Given the description of an element on the screen output the (x, y) to click on. 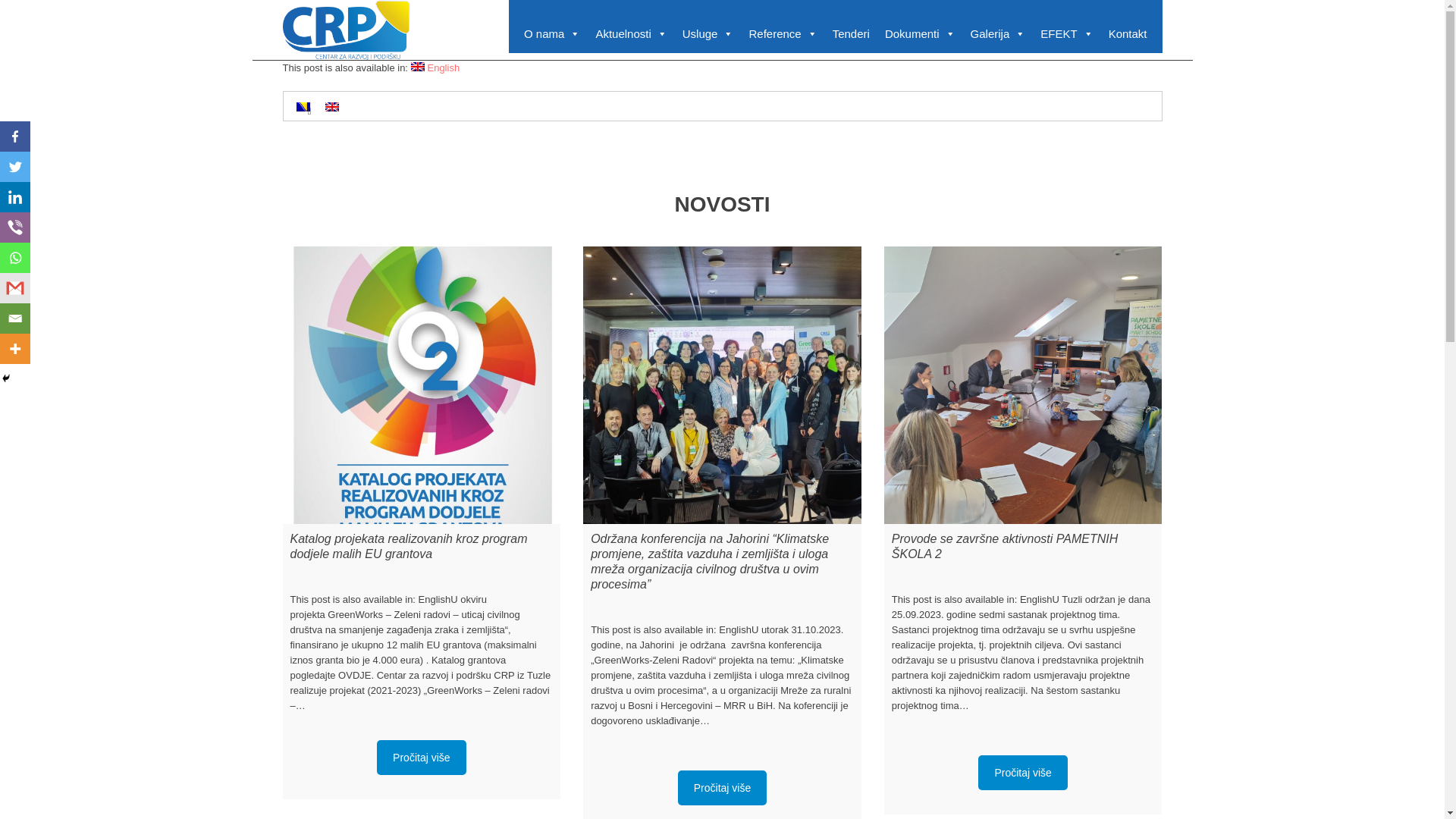
English Element type: hover (417, 66)
Bosnian Element type: hover (302, 106)
English Element type: hover (331, 106)
Galerija Element type: text (998, 34)
Google Gmail Element type: hover (15, 288)
Whatsapp Element type: hover (15, 257)
Usluge Element type: text (707, 34)
Facebook Element type: hover (15, 136)
Kontakt Element type: text (1127, 34)
Dokumenti Element type: text (920, 34)
Viber Element type: hover (15, 227)
Email Element type: hover (15, 318)
Linkedin Element type: hover (15, 197)
Reference Element type: text (782, 34)
Aktuelnosti Element type: text (630, 34)
More Element type: hover (15, 348)
O nama Element type: text (551, 34)
EFEKT Element type: text (1066, 34)
Twitter Element type: hover (15, 166)
English Element type: text (435, 67)
Tenderi Element type: text (851, 34)
Hide Element type: hover (6, 378)
